Given the description of an element on the screen output the (x, y) to click on. 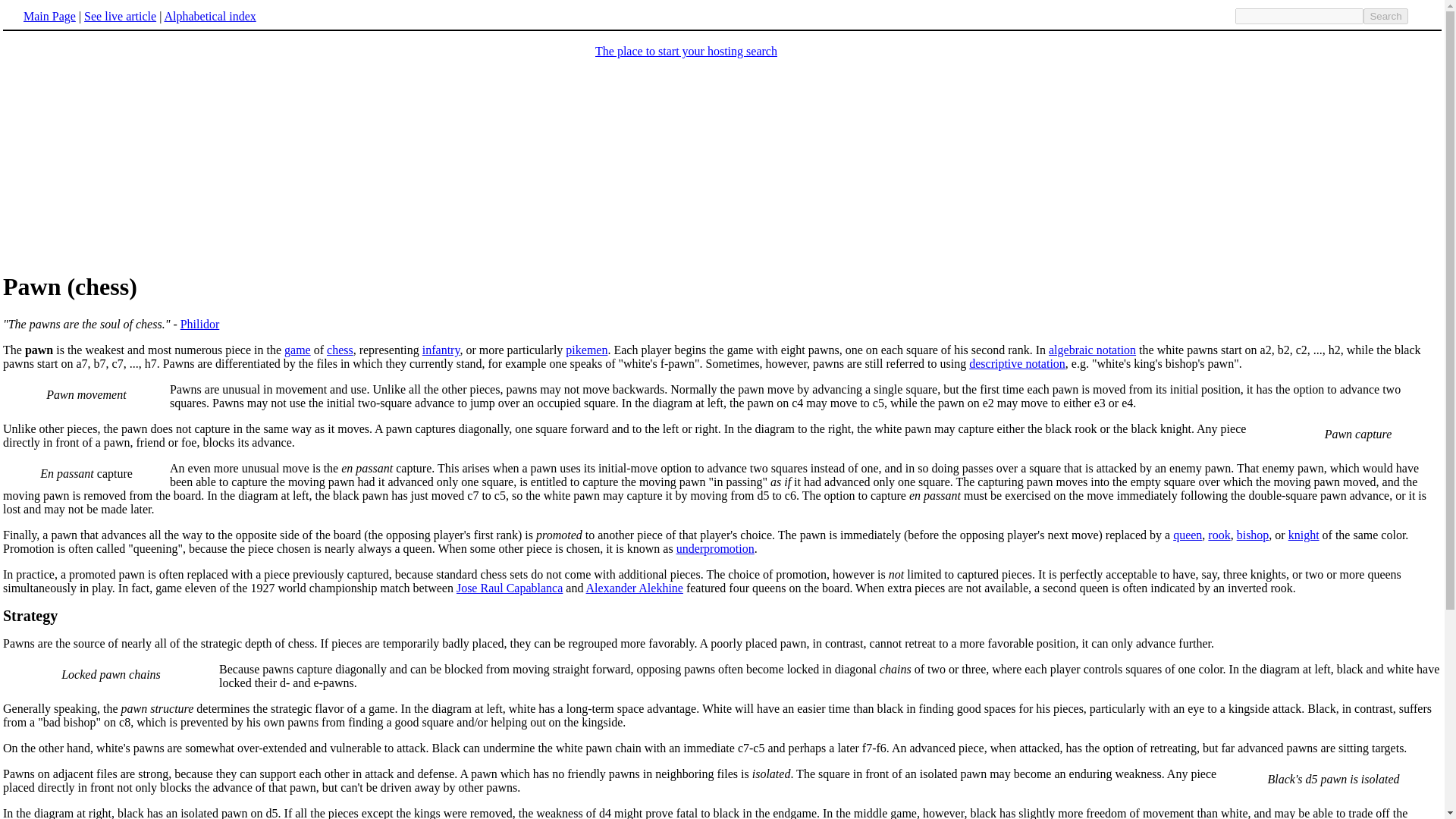
Philidor (199, 323)
knight (1303, 534)
Jose Raul Capablanca (509, 587)
descriptive notation (1017, 363)
Descriptive chess notation (1017, 363)
rook (1219, 534)
game (297, 349)
chess (339, 349)
Alphabetical index (209, 15)
Main Page (49, 15)
algebraic notation (1091, 349)
queen (1187, 534)
Game (297, 349)
